Given the description of an element on the screen output the (x, y) to click on. 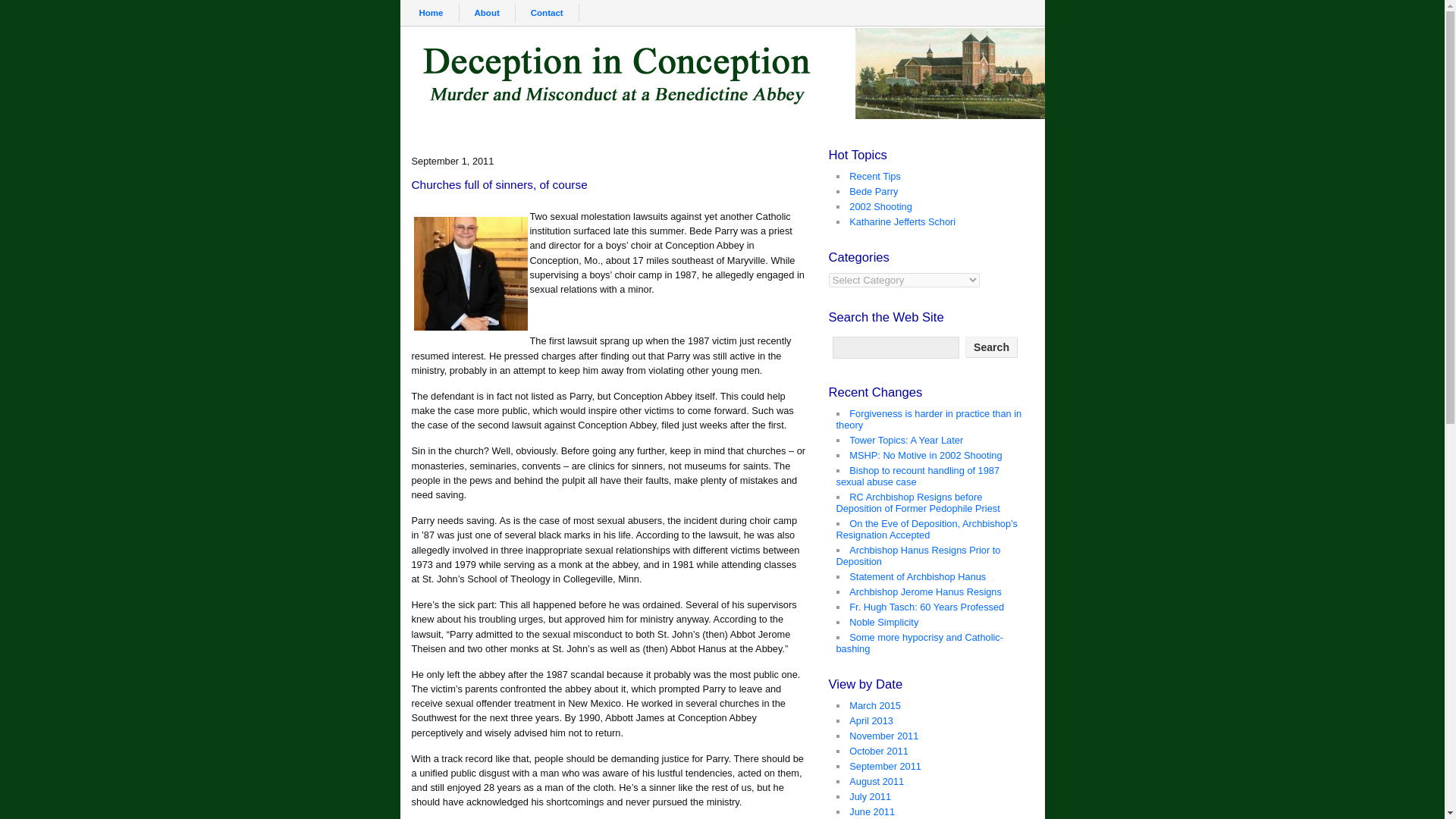
August 2011 (876, 781)
July 2011 (869, 796)
October 2011 (878, 750)
Recent Tips (874, 175)
MSHP: No Motive in 2002 Shooting (924, 455)
Some more hypocrisy and Catholic-bashing (919, 642)
Archbishop Hanus Resigns Prior to Deposition (917, 555)
Bede Parry (873, 191)
Fr. Hugh Tasch: 60 Years Professed (926, 606)
Noble Simplicity (883, 622)
